Given the description of an element on the screen output the (x, y) to click on. 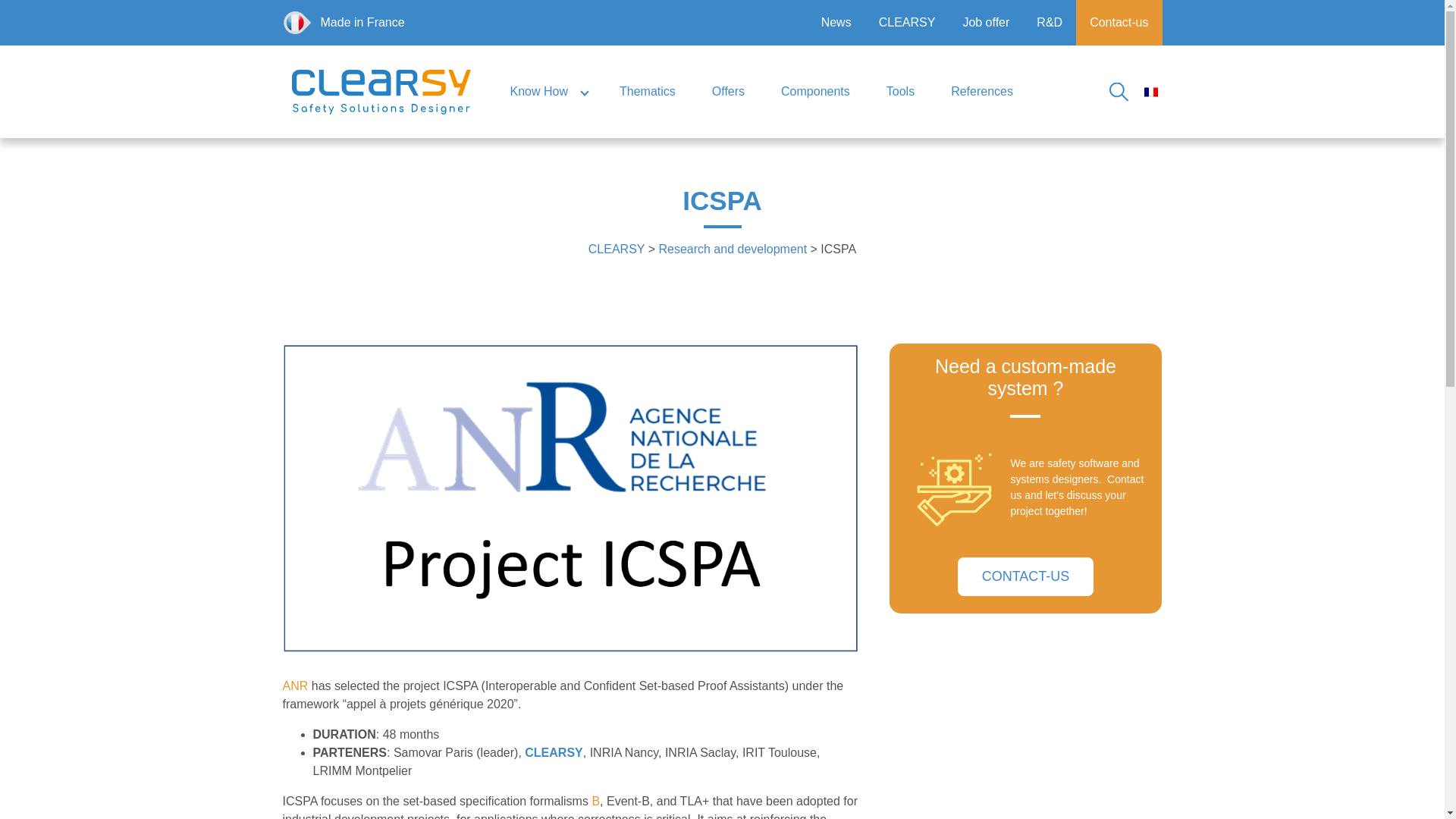
Know How (545, 91)
CLEARSY (906, 22)
Contact-us (1118, 22)
Job offer (986, 22)
Go to Research and development. (732, 248)
Go to CLEARSY. (616, 248)
News (836, 22)
